Given the description of an element on the screen output the (x, y) to click on. 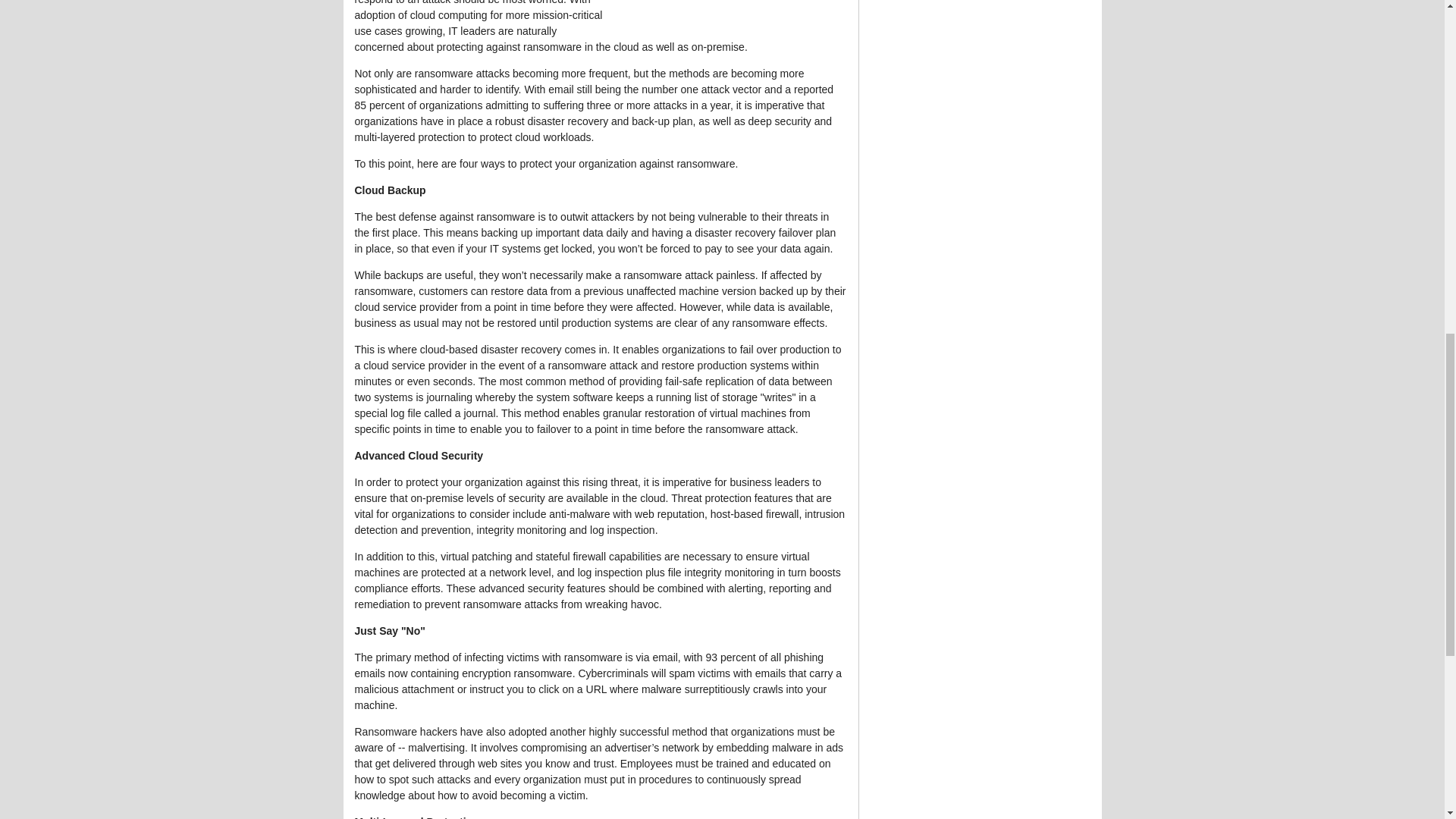
Advertisement (731, 13)
